Given the description of an element on the screen output the (x, y) to click on. 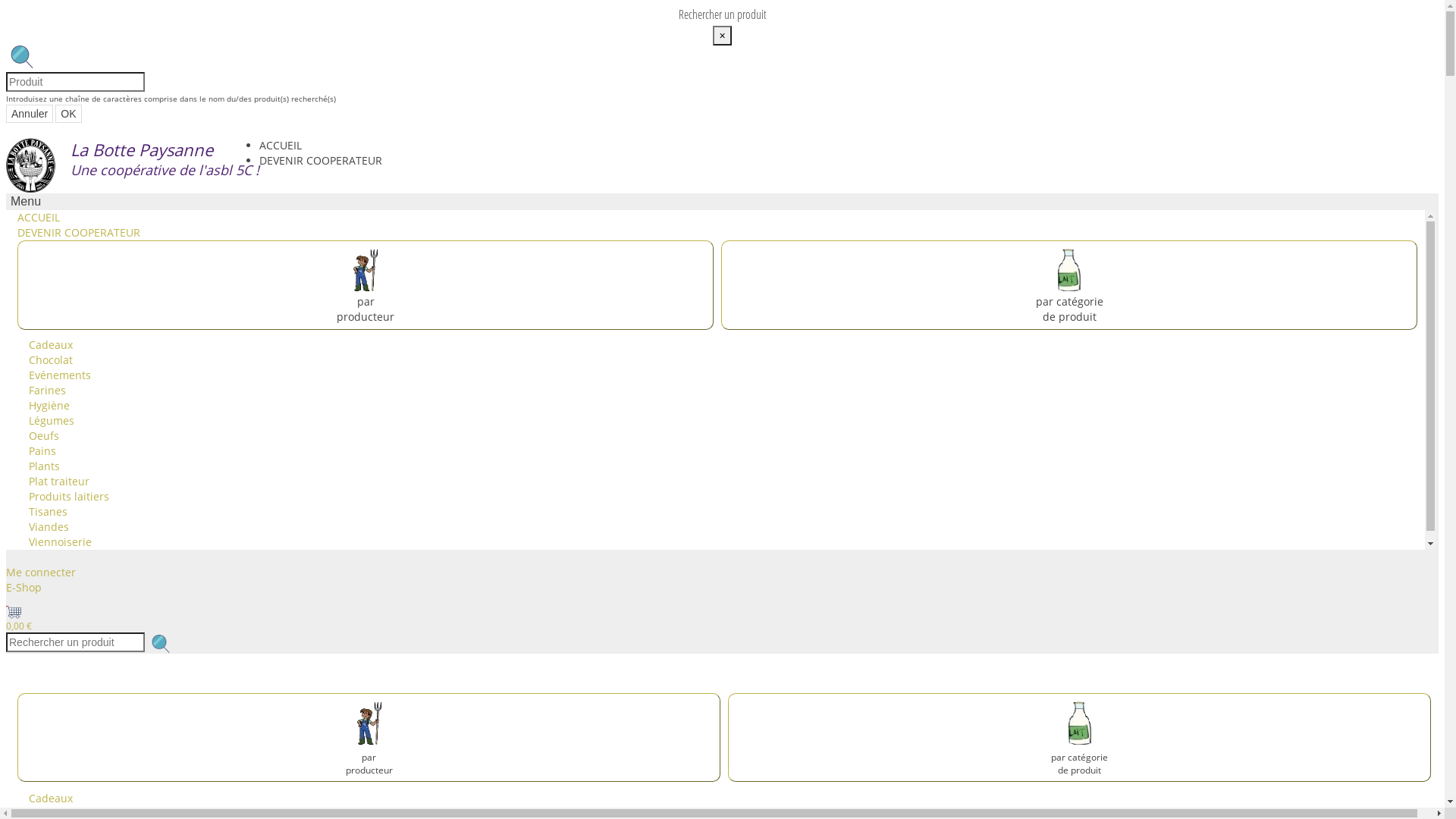
OK Element type: text (68, 113)
Me connecter Element type: text (40, 571)
Farines Element type: text (46, 389)
ACCUEIL Element type: text (280, 145)
Menu Element type: text (25, 201)
ACCUEIL Element type: text (38, 216)
Pains Element type: text (42, 450)
Viandes Element type: text (48, 526)
E-Shop Element type: text (23, 587)
par
producteur Element type: text (368, 756)
Plants Element type: text (43, 465)
DEVENIR COOPERATEUR Element type: text (320, 160)
Produits laitiers Element type: text (68, 496)
DEVENIR COOPERATEUR Element type: text (78, 232)
Annuler Element type: text (29, 113)
Cadeaux Element type: text (50, 344)
Tisanes Element type: text (47, 511)
par
producteur Element type: text (365, 284)
Viennoiserie Element type: text (59, 541)
Cadeaux Element type: text (50, 797)
Oeufs Element type: text (43, 435)
Plat traiteur Element type: text (58, 480)
Chocolat Element type: text (50, 359)
